Given the description of an element on the screen output the (x, y) to click on. 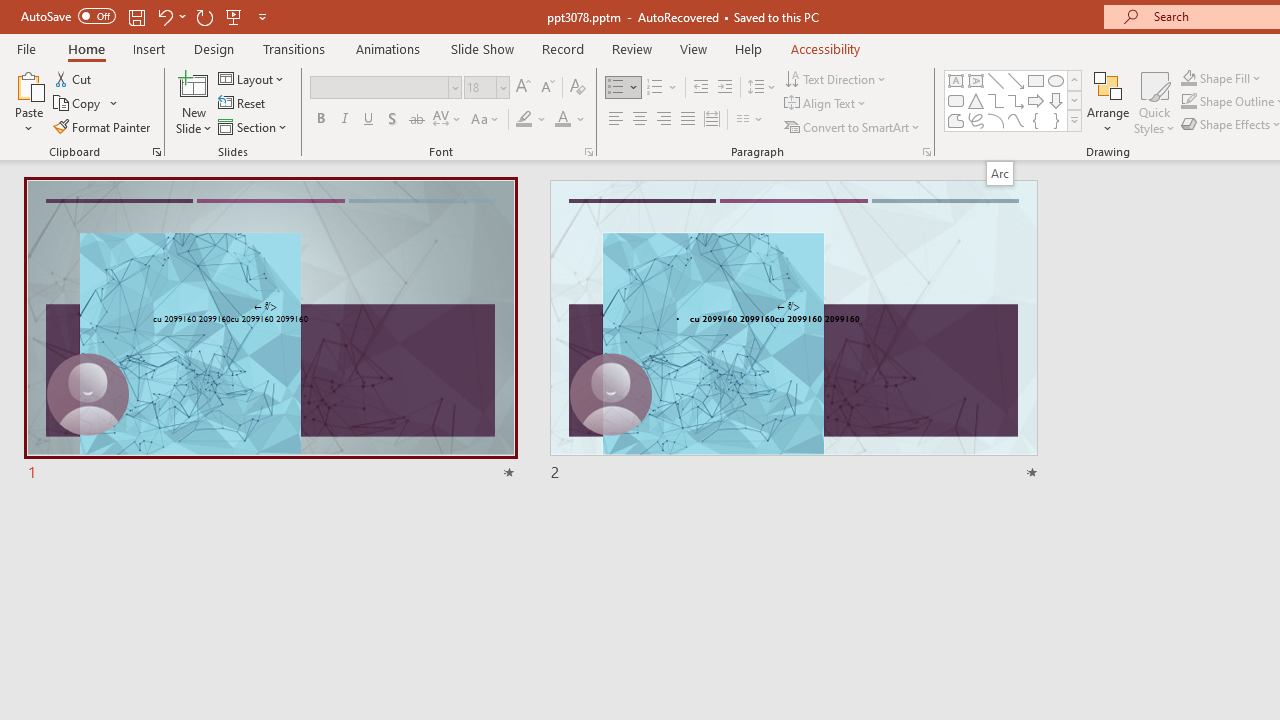
Arrow: Right (1035, 100)
Arrange (1108, 102)
Quick Styles (1154, 102)
Shapes (1074, 120)
Character Spacing (447, 119)
Curve (1016, 120)
Text Highlight Color Yellow (524, 119)
Rectangle (1035, 80)
